Given the description of an element on the screen output the (x, y) to click on. 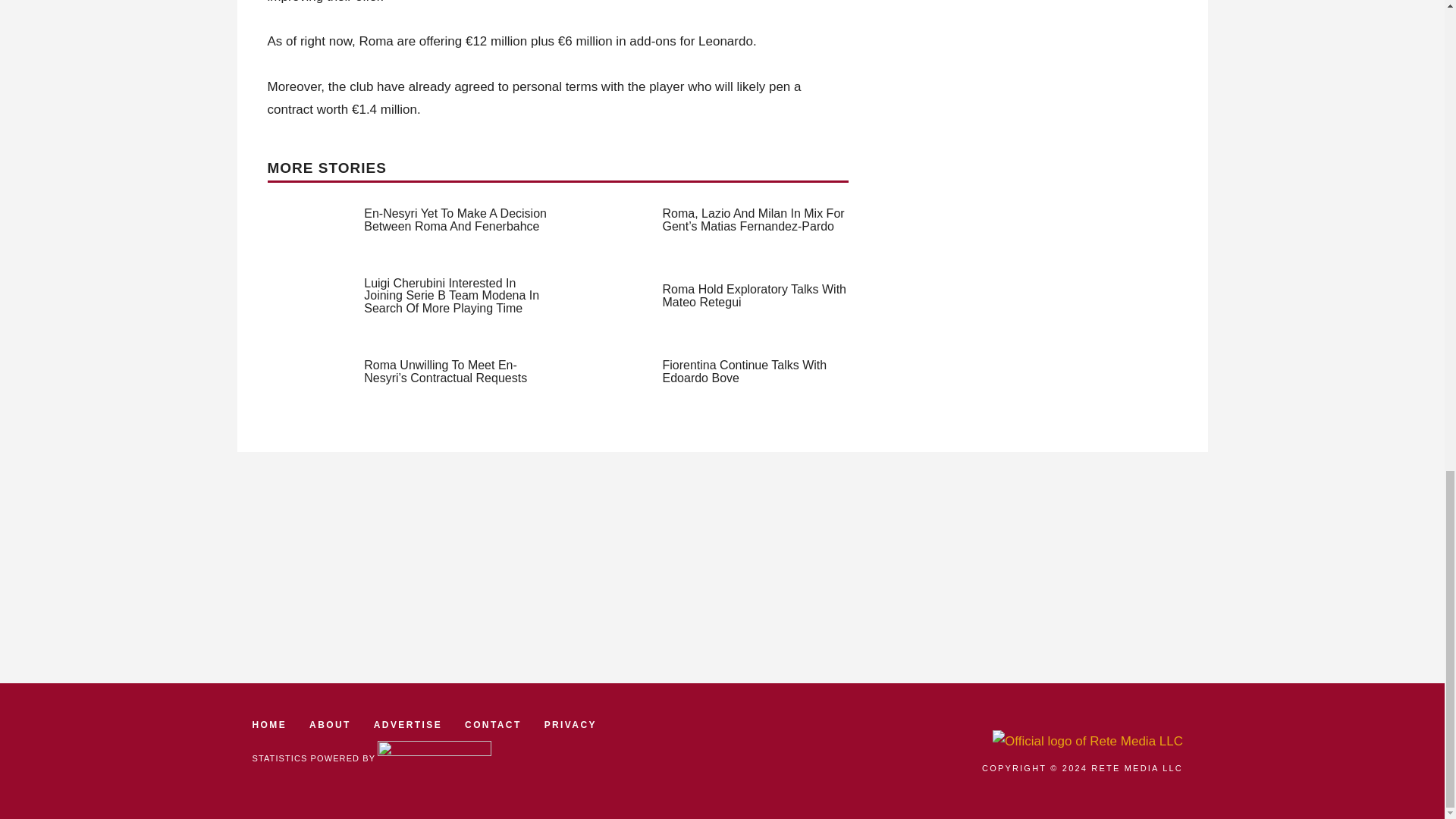
En-Nesyri Yet To Make A Decision Between Roma And Fenerbahce (455, 219)
HOME (268, 725)
Fiorentina Continue Talks With Edoardo Bove (744, 371)
ADVERTISE (408, 725)
CONTACT (492, 725)
PRIVACY (570, 725)
ABOUT (329, 725)
Roma Hold Exploratory Talks With Mateo Retegui (753, 295)
